Given the description of an element on the screen output the (x, y) to click on. 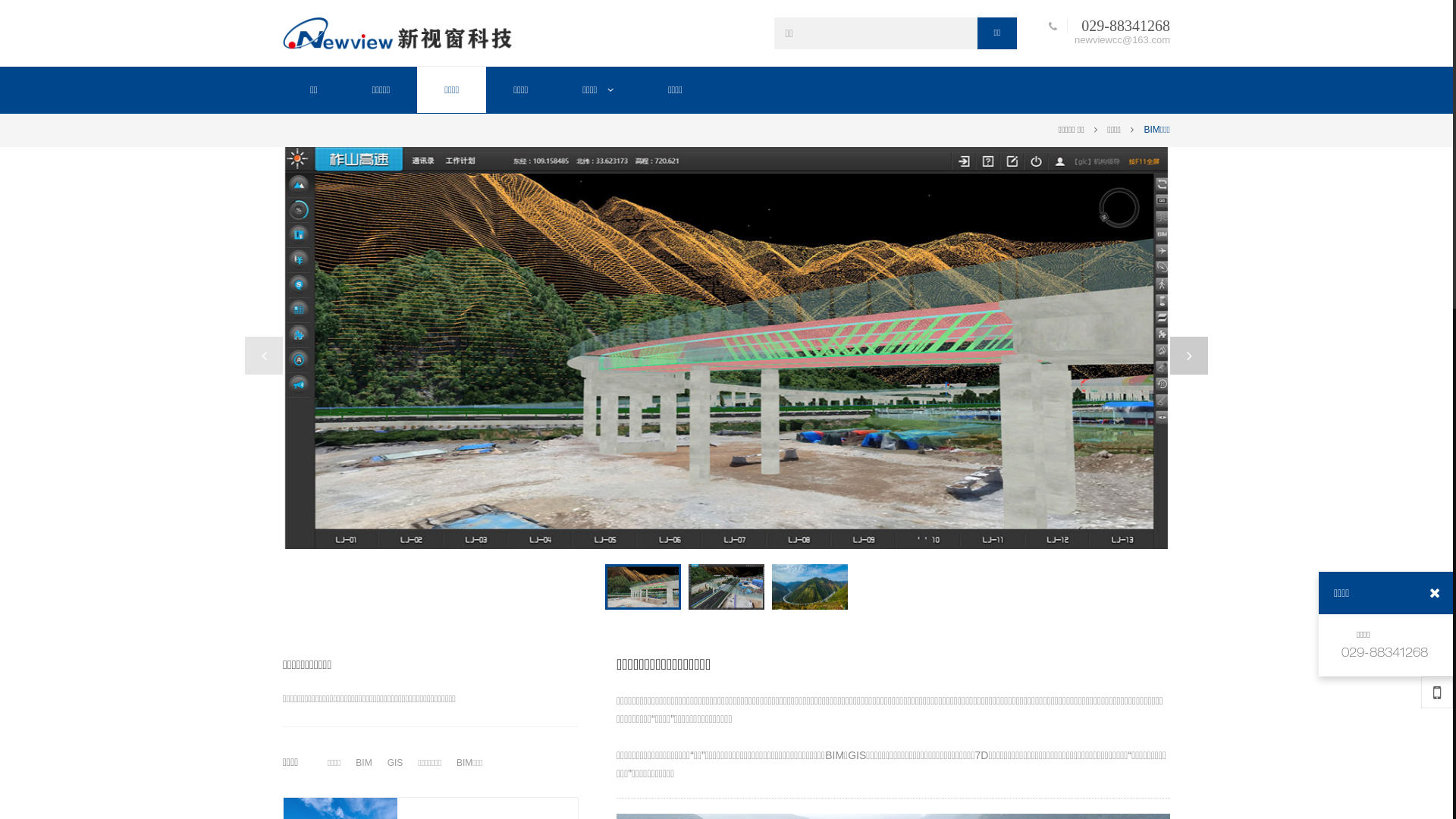
BIM Element type: text (363, 762)
newviewcc@163.com Element type: text (1118, 38)
GIS Element type: text (395, 762)
